Given the description of an element on the screen output the (x, y) to click on. 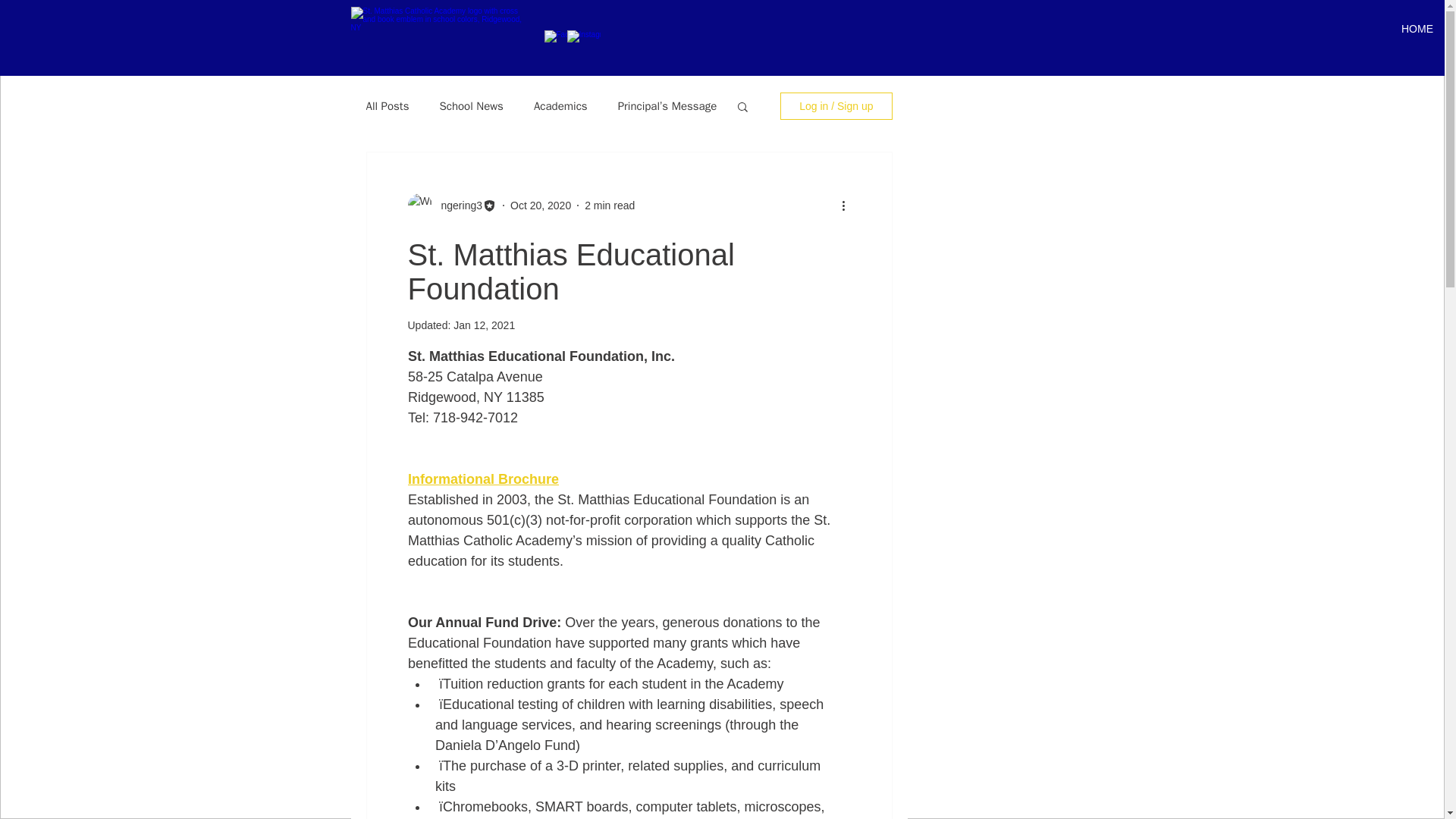
2 min read (609, 204)
All Posts (387, 105)
School News (470, 105)
Jan 12, 2021 (483, 325)
ngering3 (457, 204)
Academics (561, 105)
Informational Brochure (483, 478)
Oct 20, 2020 (540, 204)
